Given the description of an element on the screen output the (x, y) to click on. 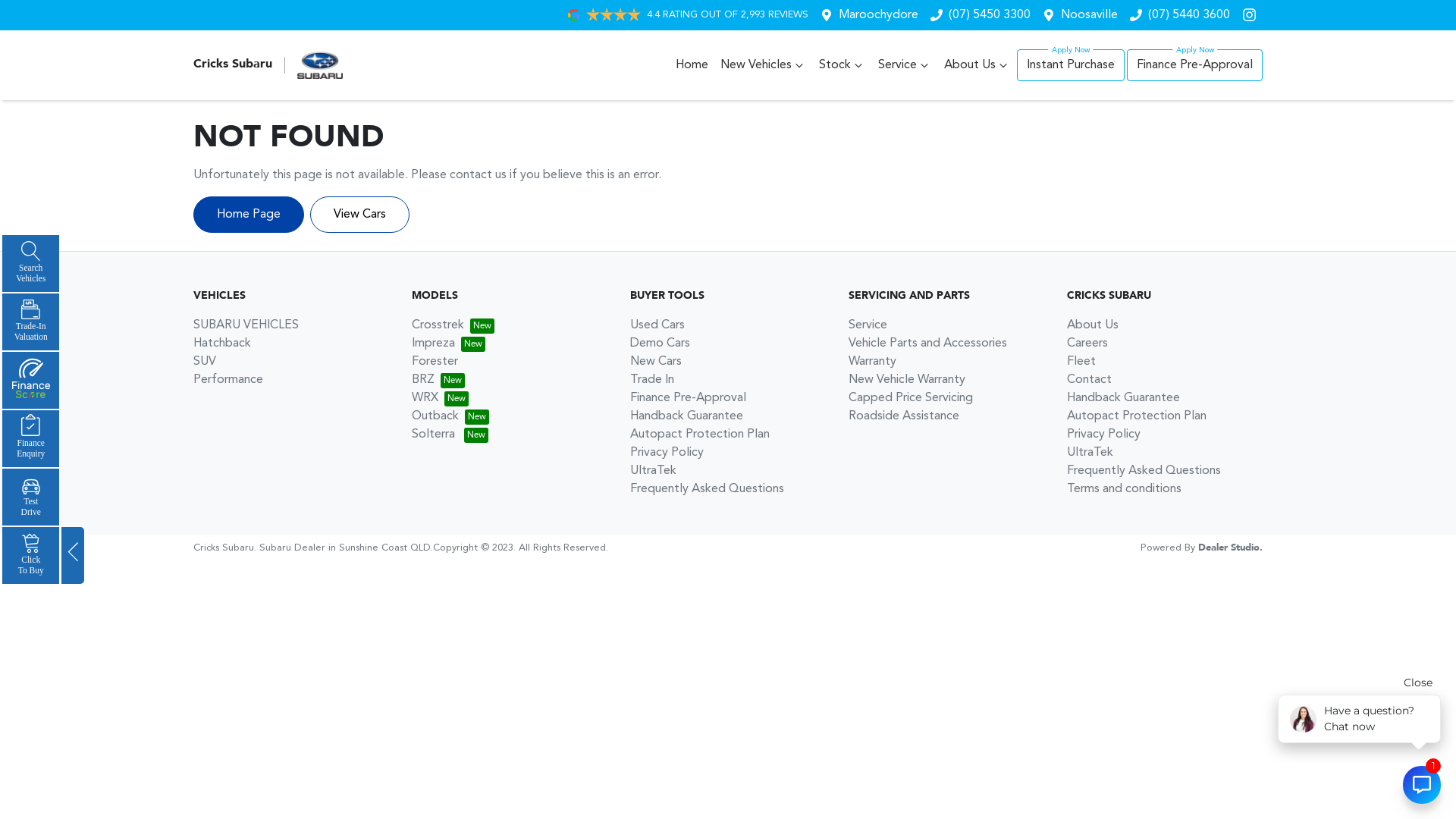
BRZ Element type: text (437, 379)
Performance Element type: text (228, 379)
About Us Element type: text (977, 65)
New Vehicle Warranty Element type: text (906, 379)
Trade-In
Valuation Element type: text (30, 321)
Hatchback Element type: text (222, 343)
Trade In Element type: text (652, 379)
SUV Element type: text (204, 361)
Test
Drive Element type: text (30, 496)
Click
To Buy Element type: text (30, 555)
Vehicle Parts and Accessories Element type: text (927, 343)
Stock Element type: text (842, 65)
(07) 5440 3600 Element type: text (1189, 15)
Service Element type: text (905, 65)
Careers Element type: text (1086, 343)
View Cars Element type: text (359, 214)
Dealer Studio. Element type: text (1230, 547)
Finance
Enquiry Element type: text (30, 438)
New Vehicles Element type: text (763, 65)
Autopact Protection Plan Element type: text (699, 434)
UltraTek Element type: text (653, 470)
Privacy Policy Element type: text (666, 452)
Service Element type: text (867, 325)
Home Page Element type: text (248, 214)
Handback Guarantee Element type: text (686, 416)
Terms and conditions Element type: text (1123, 489)
Solterra Element type: text (449, 434)
Outback Element type: text (450, 416)
Used Cars Element type: text (657, 325)
Handback Guarantee Element type: text (1122, 398)
Finance Pre-Approval Element type: text (688, 398)
Frequently Asked Questions Element type: text (1143, 470)
Autopact Protection Plan Element type: text (1136, 416)
WRX Element type: text (439, 398)
Warranty Element type: text (872, 361)
About Us Element type: text (1092, 325)
UltraTek Element type: text (1089, 452)
Instant Purchase Element type: text (1070, 65)
(07) 5450 3300 Element type: text (989, 15)
Fleet Element type: text (1080, 361)
New Cars Element type: text (655, 361)
Contact Element type: text (1088, 379)
Privacy Policy Element type: text (1103, 434)
SUBARU VEHICLES Element type: text (245, 325)
Roadside Assistance Element type: text (903, 416)
Search
Vehicles Element type: text (30, 263)
Cricks Subaru Element type: text (267, 65)
Forester Element type: text (434, 361)
Noosaville Element type: text (1088, 15)
Home Element type: text (691, 65)
Impreza Element type: text (448, 343)
Frequently Asked Questions Element type: text (707, 489)
Capped Price Servicing Element type: text (910, 398)
Maroochydore Element type: text (878, 15)
Demo Cars Element type: text (660, 343)
Finance Pre-Approval Element type: text (1194, 65)
Crosstrek Element type: text (452, 325)
